Given the description of an element on the screen output the (x, y) to click on. 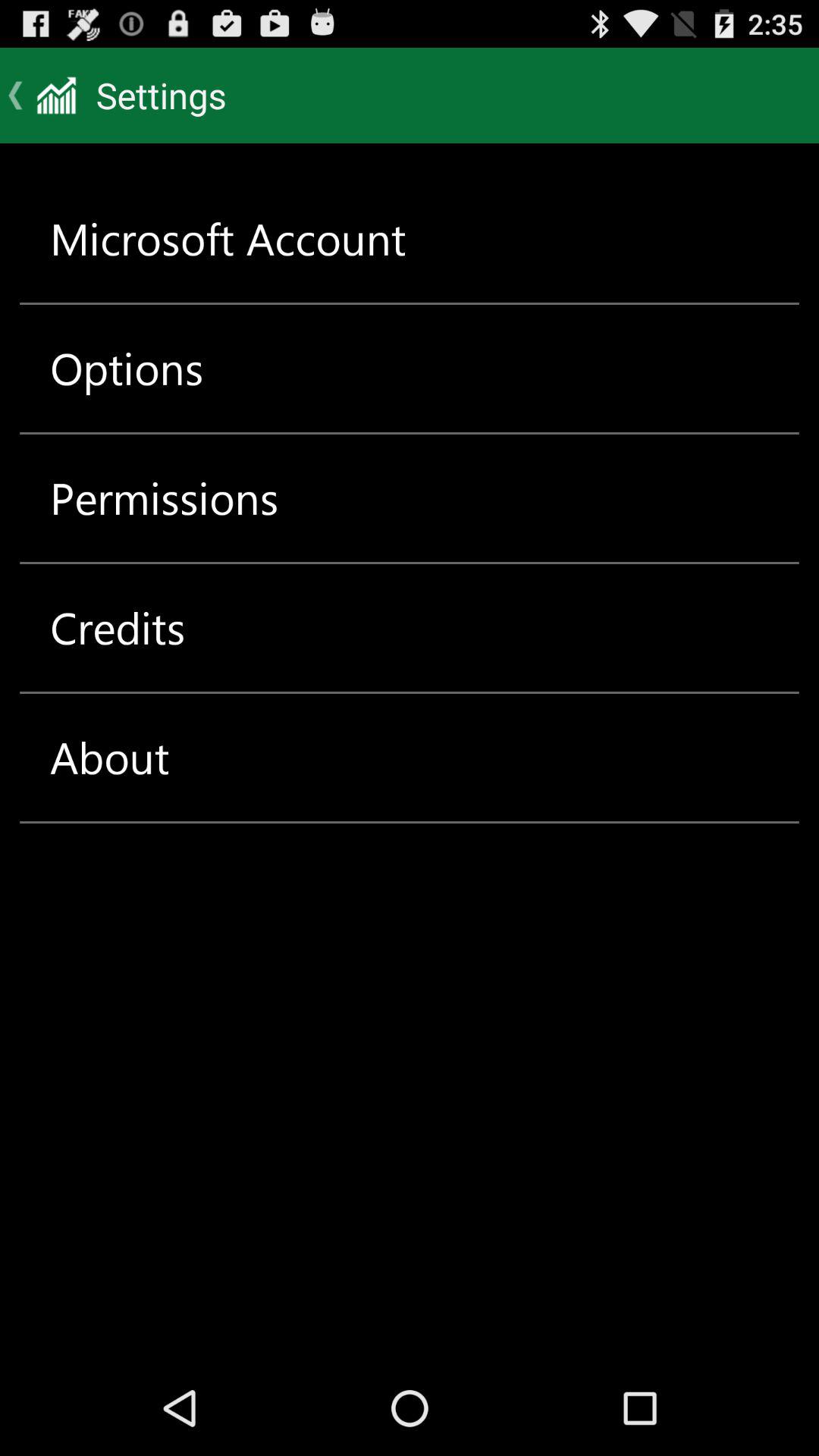
launch item above the credits icon (164, 497)
